Given the description of an element on the screen output the (x, y) to click on. 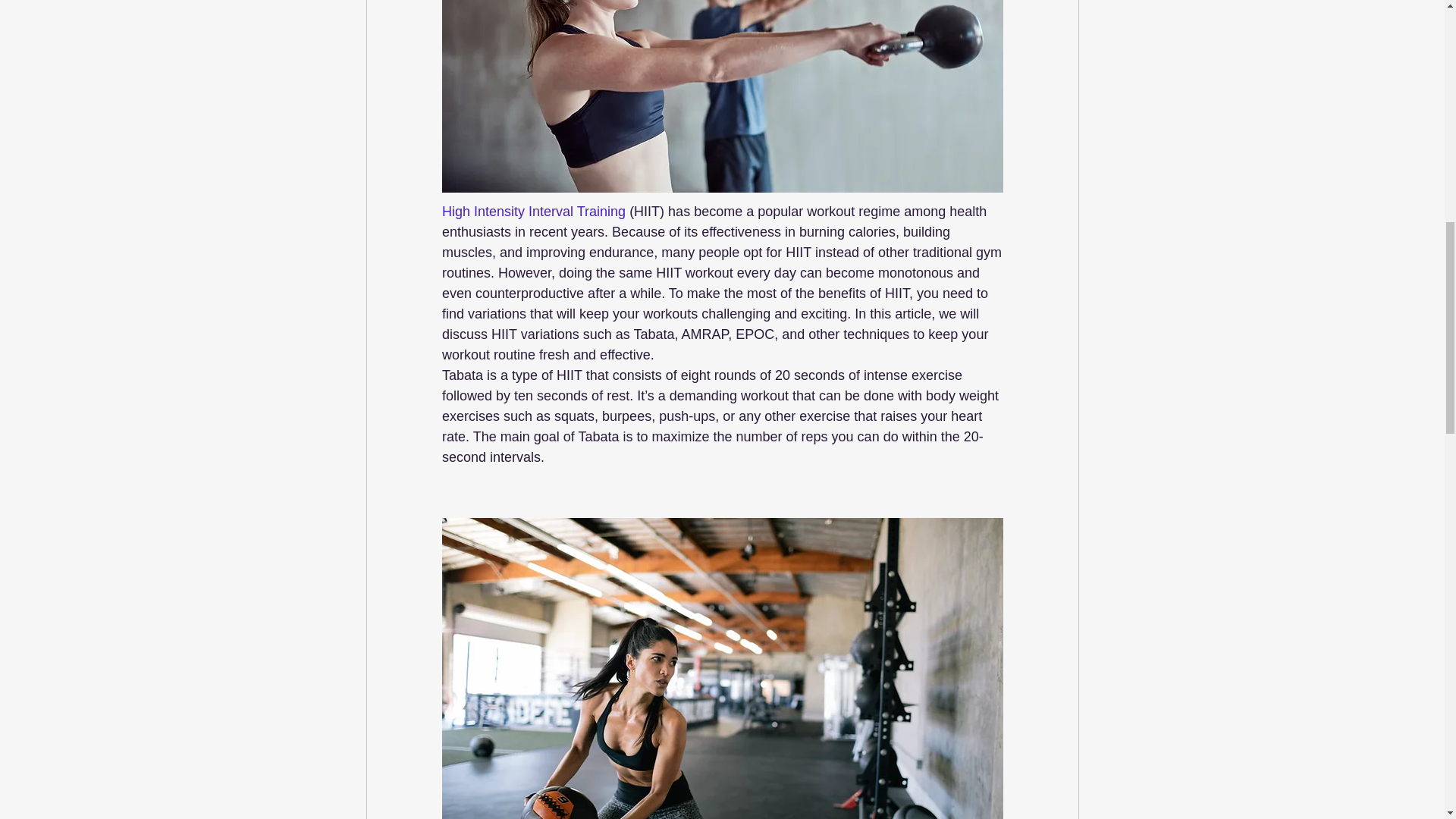
High Intensity Interval Training (532, 212)
